Given the description of an element on the screen output the (x, y) to click on. 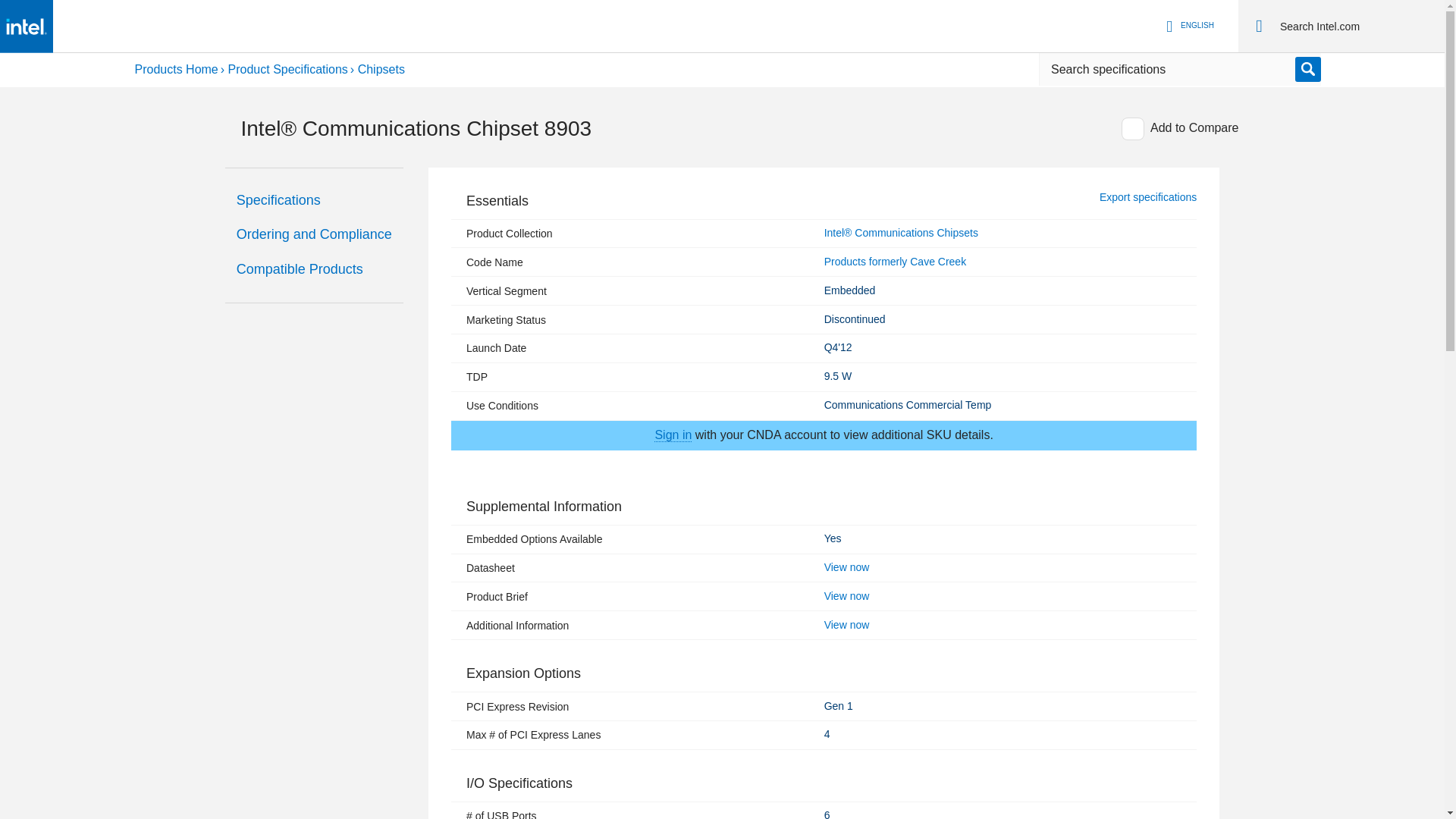
Search (1356, 25)
Products Home (180, 69)
Search (1259, 26)
ENGLISH (1187, 26)
Product Specifications (314, 235)
Language Selector (291, 69)
